Given the description of an element on the screen output the (x, y) to click on. 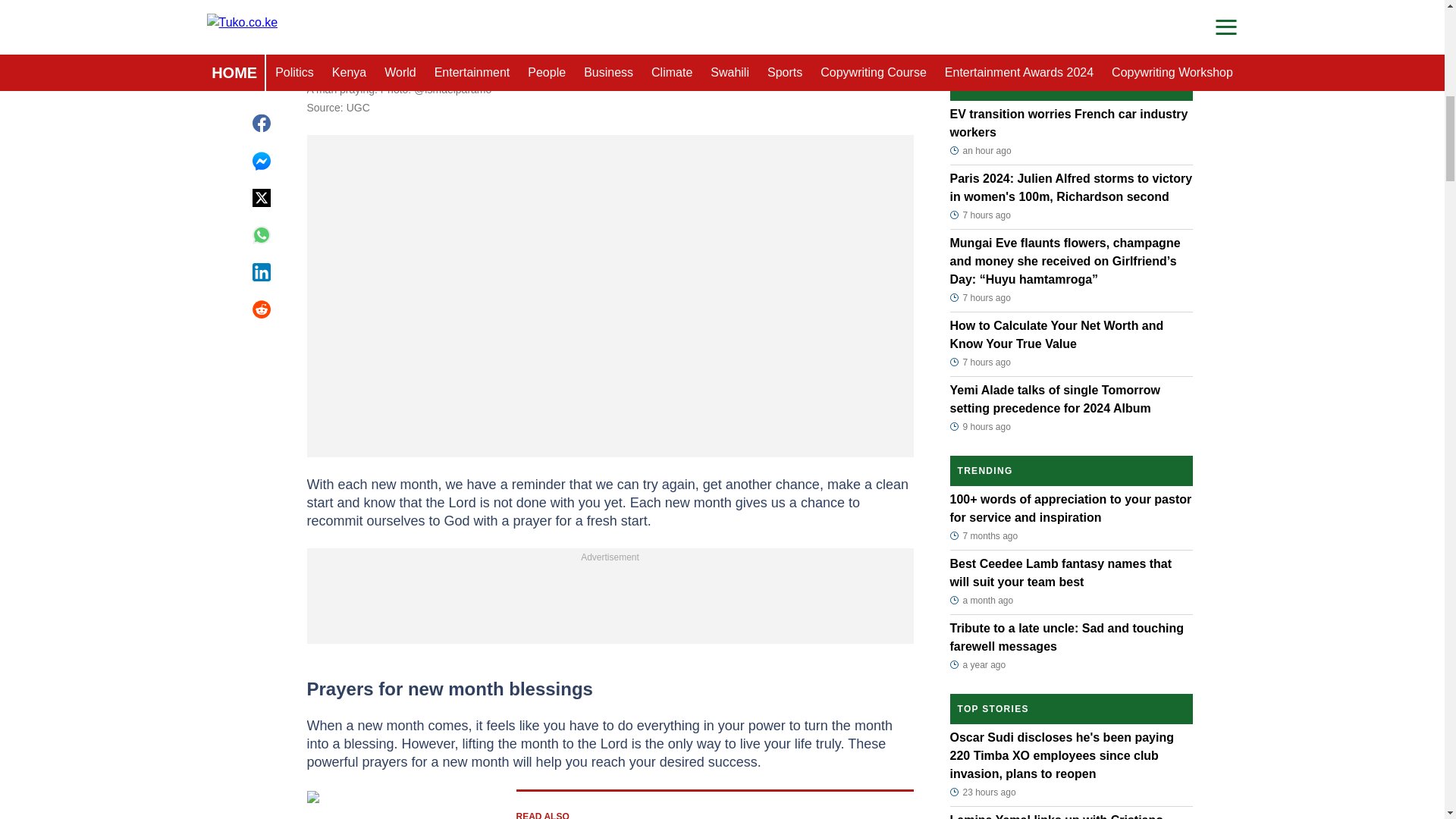
prayers for new month blessings (609, 40)
